Given the description of an element on the screen output the (x, y) to click on. 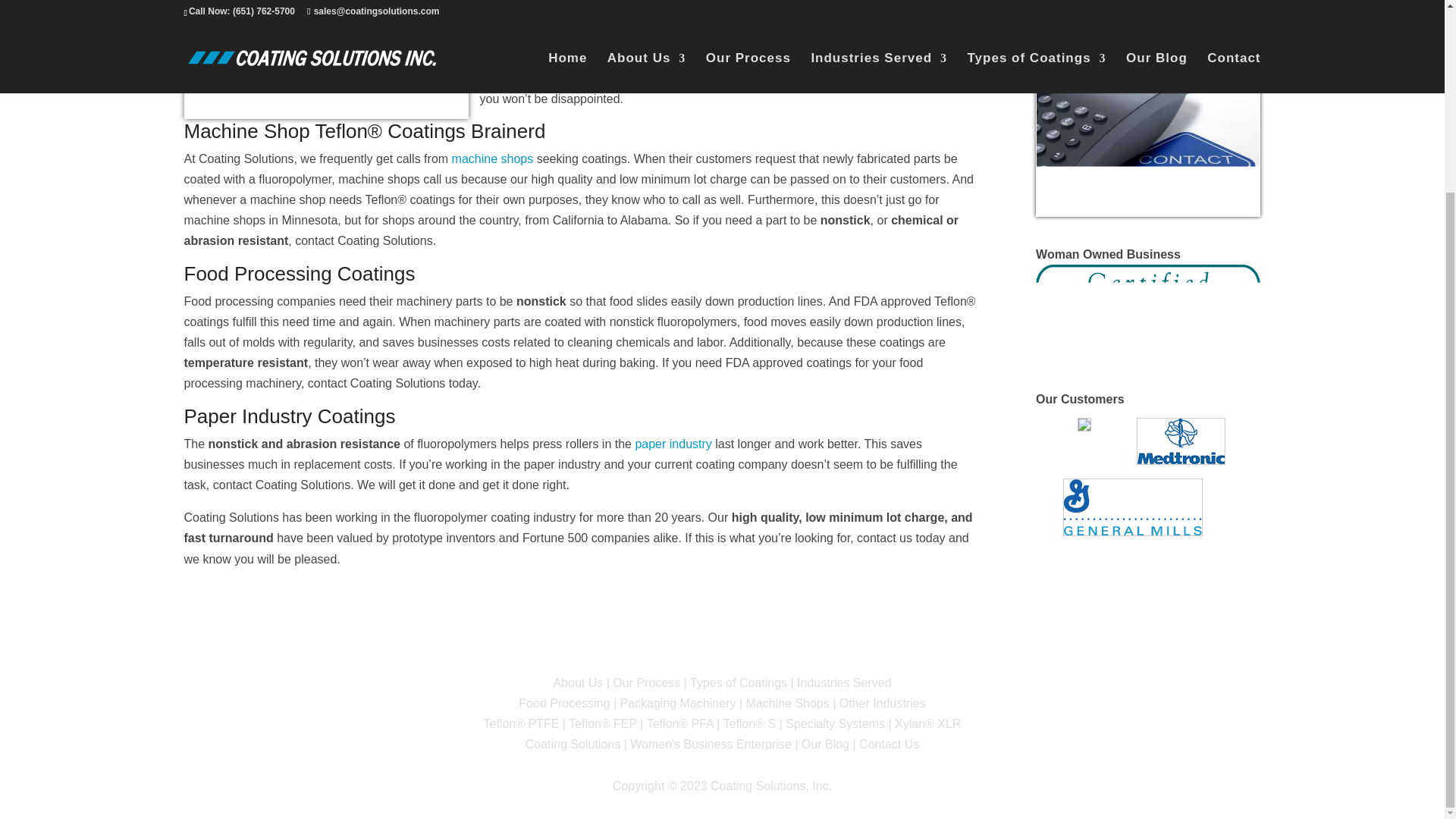
Machine Shops (786, 703)
Packaging Machinery (677, 703)
paper industry (672, 443)
machine shops (492, 158)
Our Process (645, 682)
Industries Served (843, 682)
Types of Coatings (738, 682)
Other Industries (883, 703)
About Us (577, 682)
Specialty Systems (835, 723)
Food Processing (564, 703)
